Given the description of an element on the screen output the (x, y) to click on. 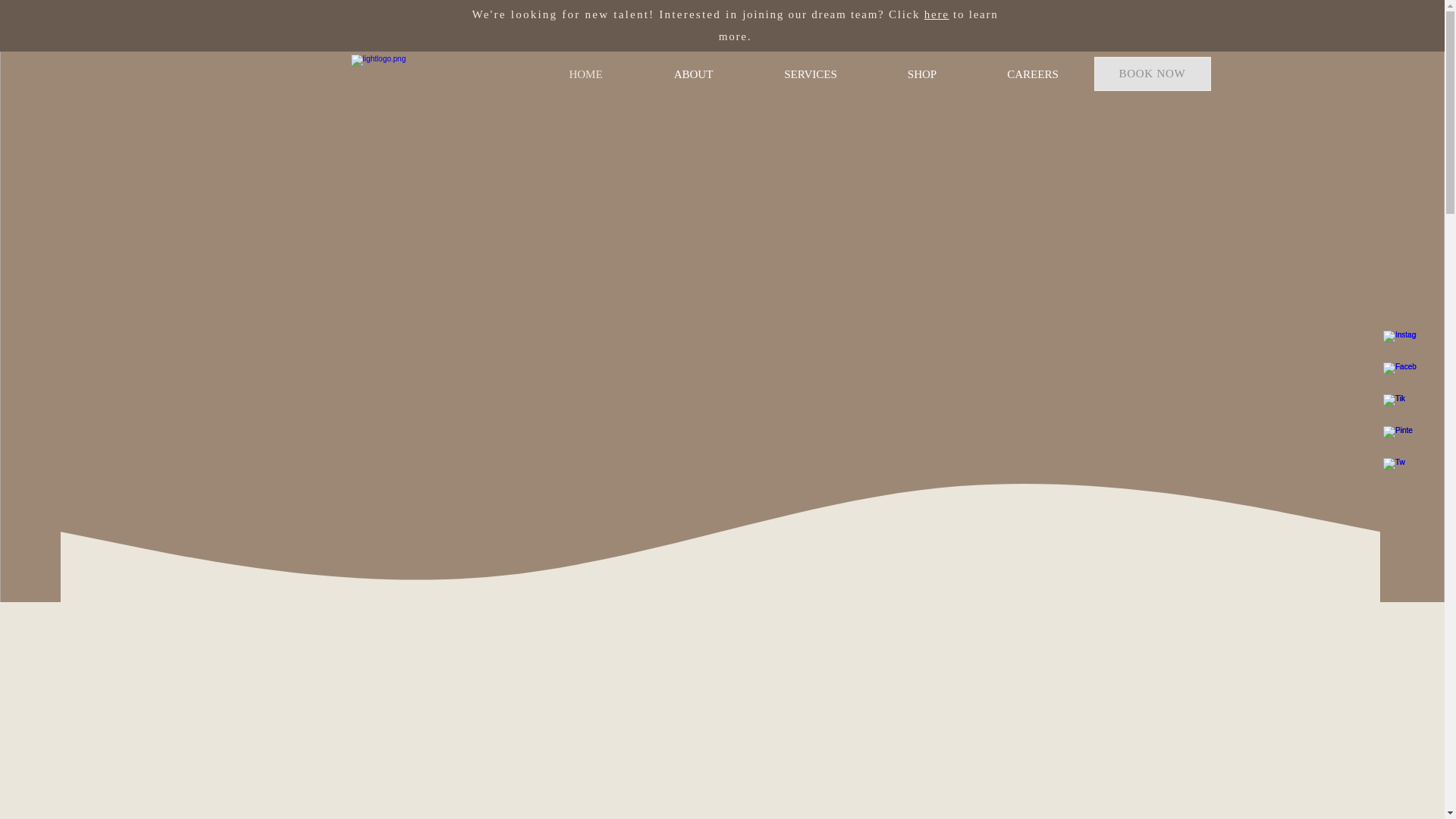
CAREERS (1033, 74)
HOME (586, 74)
BOOK NOW (1151, 73)
here (936, 14)
